Given the description of an element on the screen output the (x, y) to click on. 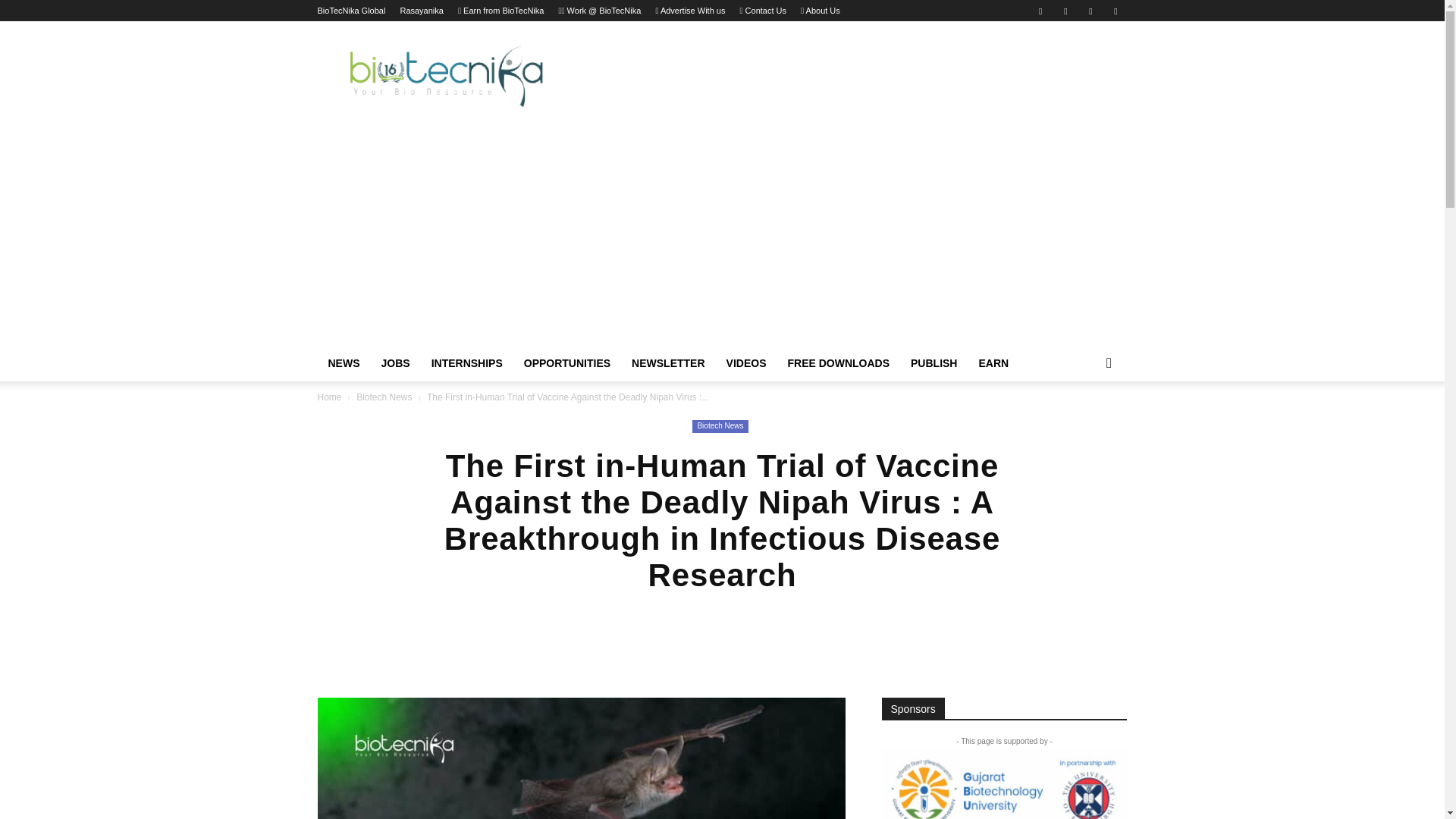
Linkedin (1065, 10)
Rasayanika (420, 10)
Youtube (1114, 10)
Twitter (1090, 10)
BioTecNika Global (351, 10)
Facebook (1040, 10)
